Given the description of an element on the screen output the (x, y) to click on. 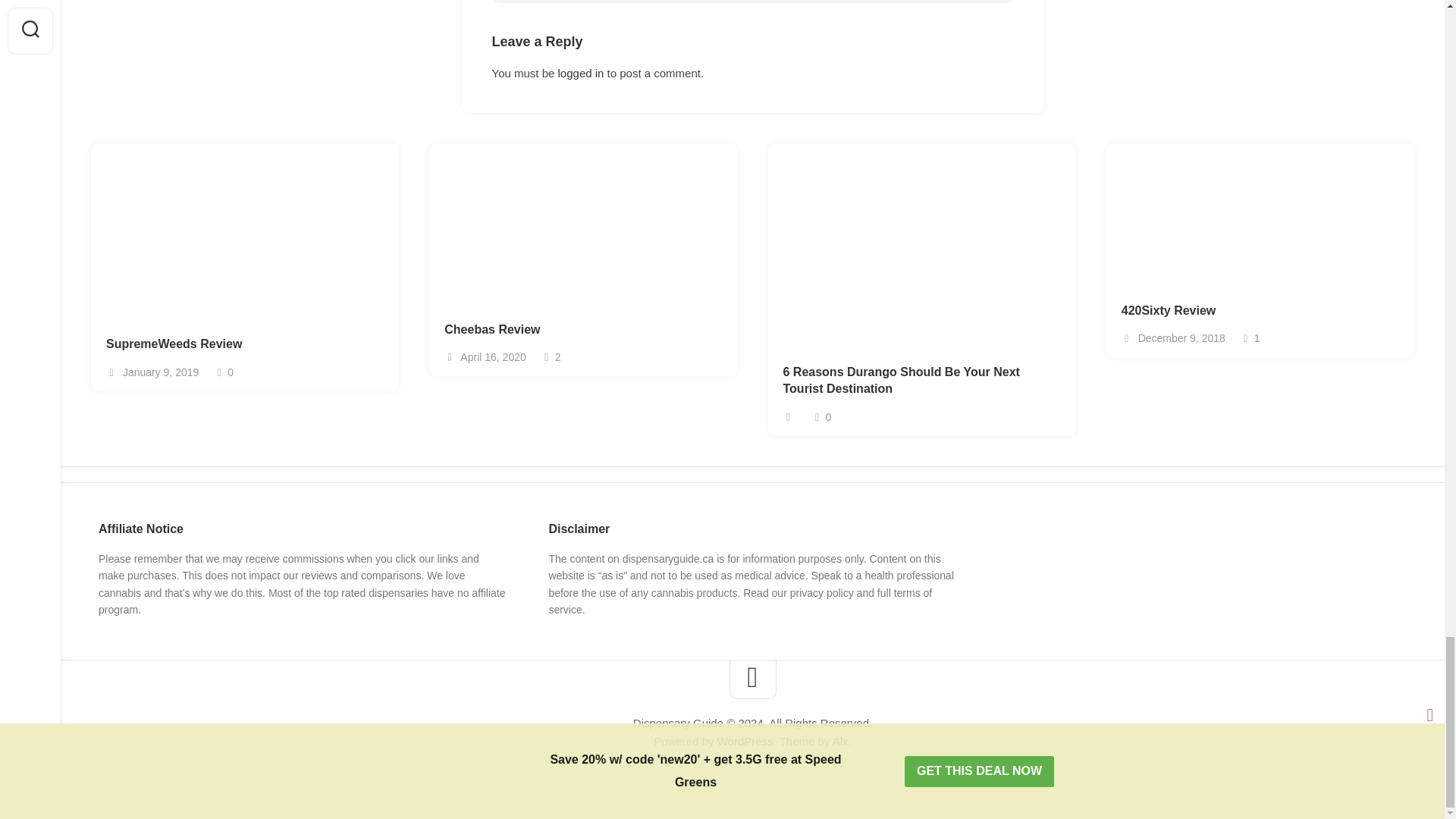
terms of service (739, 601)
logged in (580, 72)
1 (882, 1)
Cheebas Review (1250, 337)
6 Reasons Durango Should Be Your Next Tourist Destination (583, 330)
privacy policy (921, 380)
2 (821, 592)
WordPress (550, 357)
420Sixty Review (745, 740)
